Given the description of an element on the screen output the (x, y) to click on. 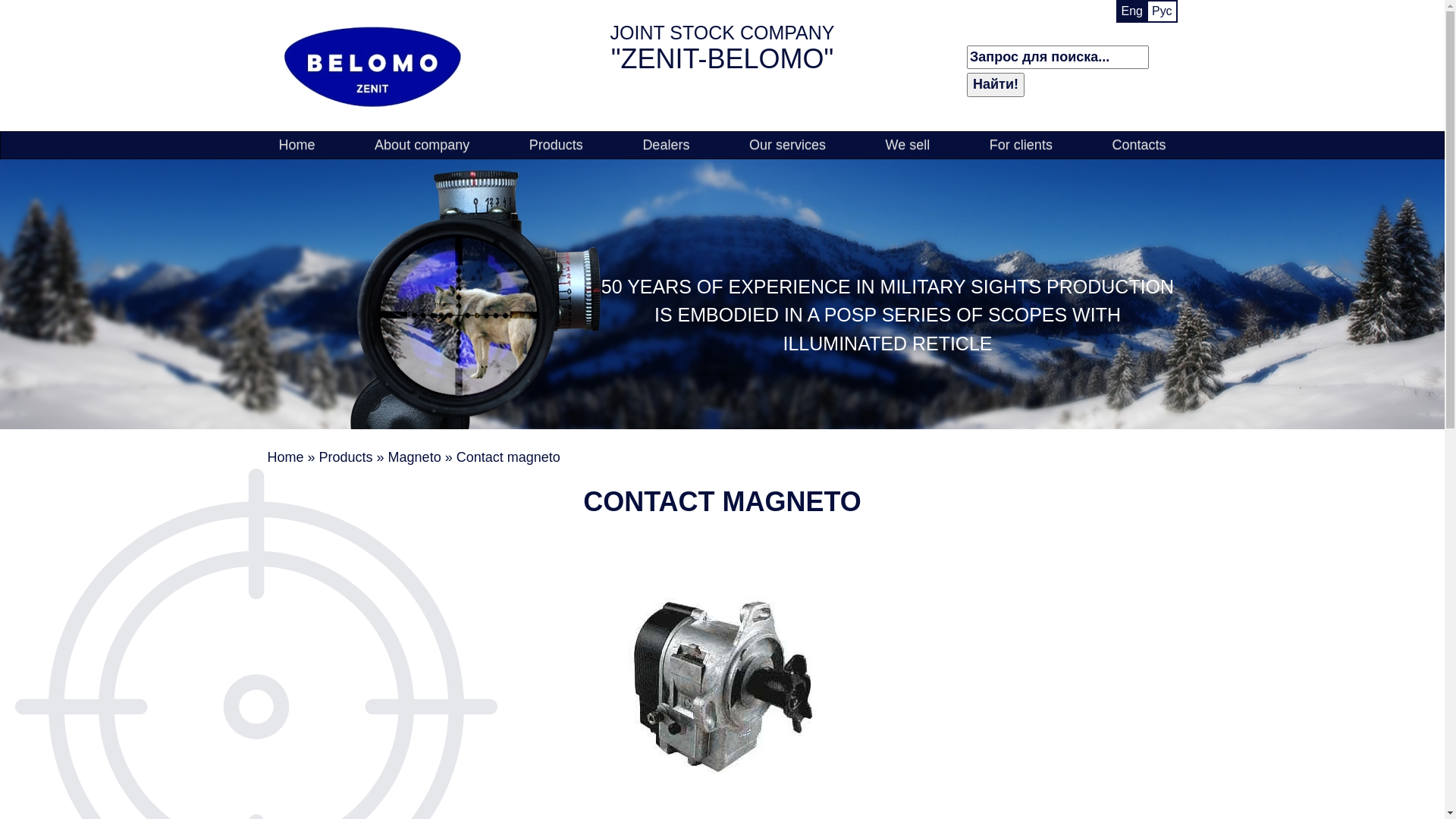
Products Element type: text (556, 144)
We sell Element type: text (907, 144)
Home Element type: text (284, 456)
About company Element type: text (421, 144)
Magneto Element type: text (414, 456)
Contacts Element type: text (1138, 144)
Dealers Element type: text (665, 144)
Products Element type: text (346, 456)
For clients Element type: text (1020, 144)
Home Element type: text (297, 144)
Our services Element type: text (787, 144)
